Given the description of an element on the screen output the (x, y) to click on. 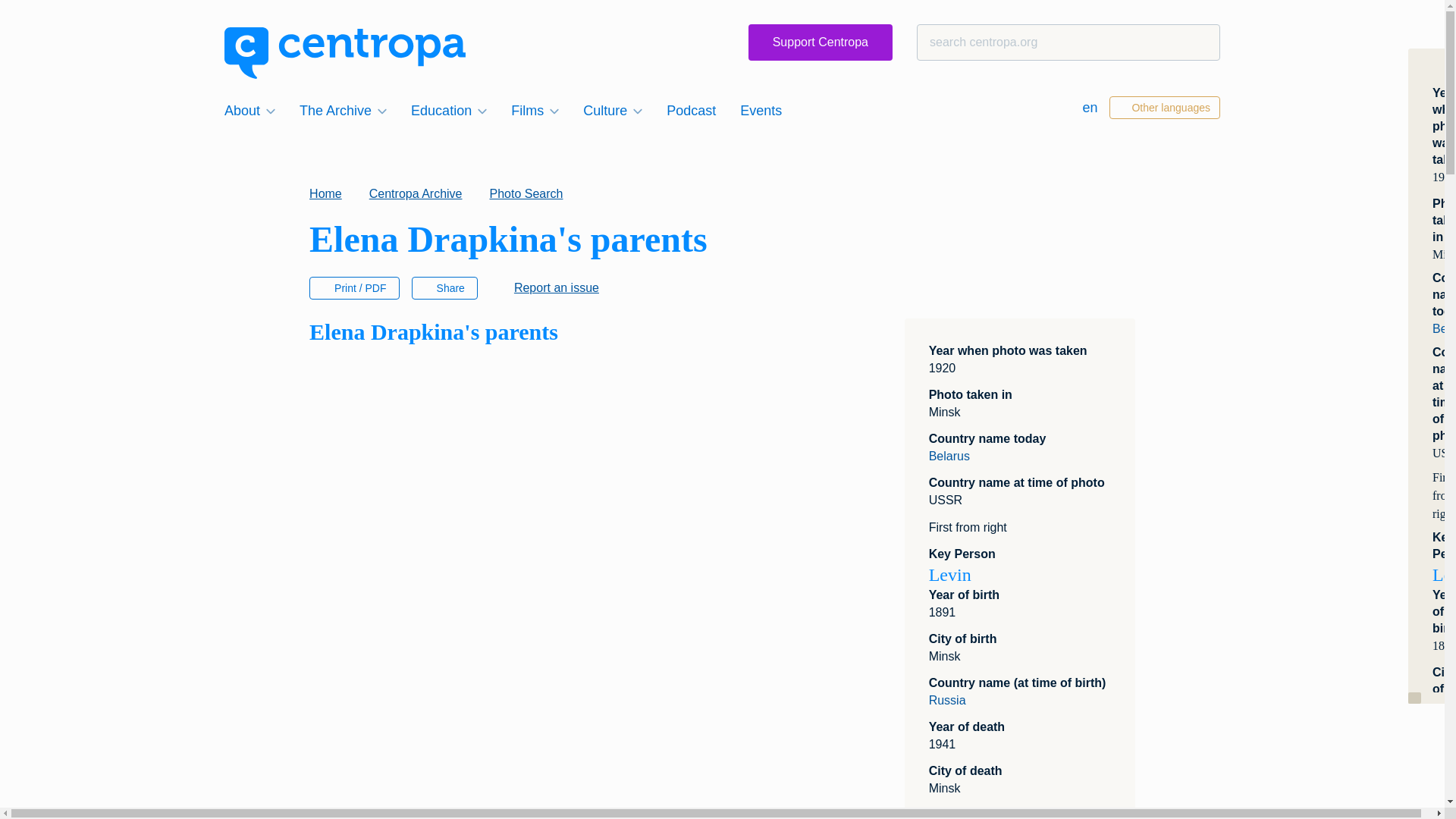
Films (534, 110)
The Archive (343, 110)
Podcast (691, 110)
Support Centropa (820, 42)
Events (760, 110)
Education (448, 110)
Search (40, 18)
Support Centropa (820, 42)
About (249, 110)
Culture (611, 110)
